Given the description of an element on the screen output the (x, y) to click on. 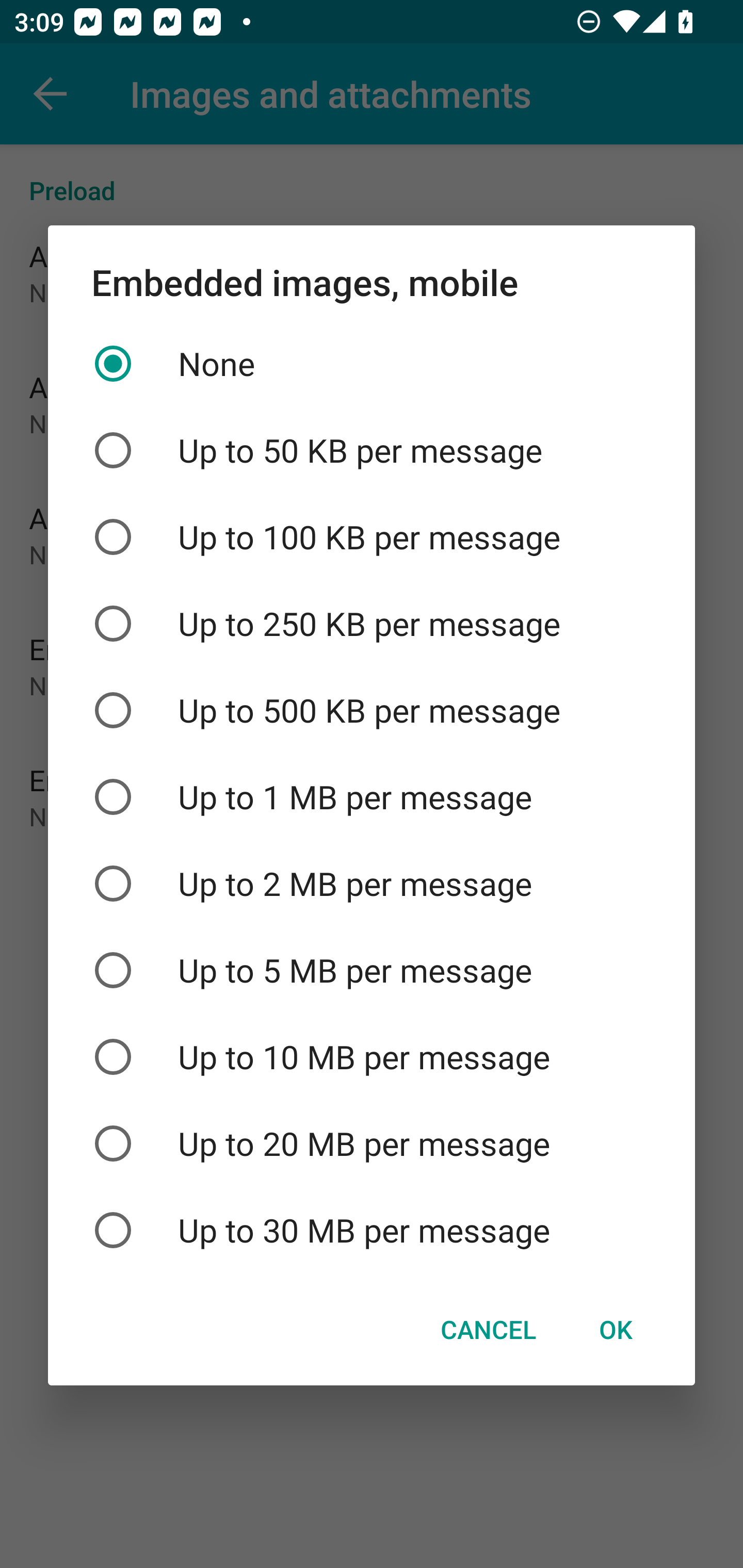
None (371, 363)
Up to 50 KB per message (371, 450)
Up to 100 KB per message (371, 536)
Up to 250 KB per message (371, 623)
Up to 500 KB per message (371, 710)
Up to 1 MB per message (371, 797)
Up to 2 MB per message (371, 883)
Up to 5 MB per message (371, 969)
Up to 10 MB per message (371, 1056)
Up to 20 MB per message (371, 1143)
Up to 30 MB per message (371, 1229)
CANCEL (488, 1329)
OK (615, 1329)
